Given the description of an element on the screen output the (x, y) to click on. 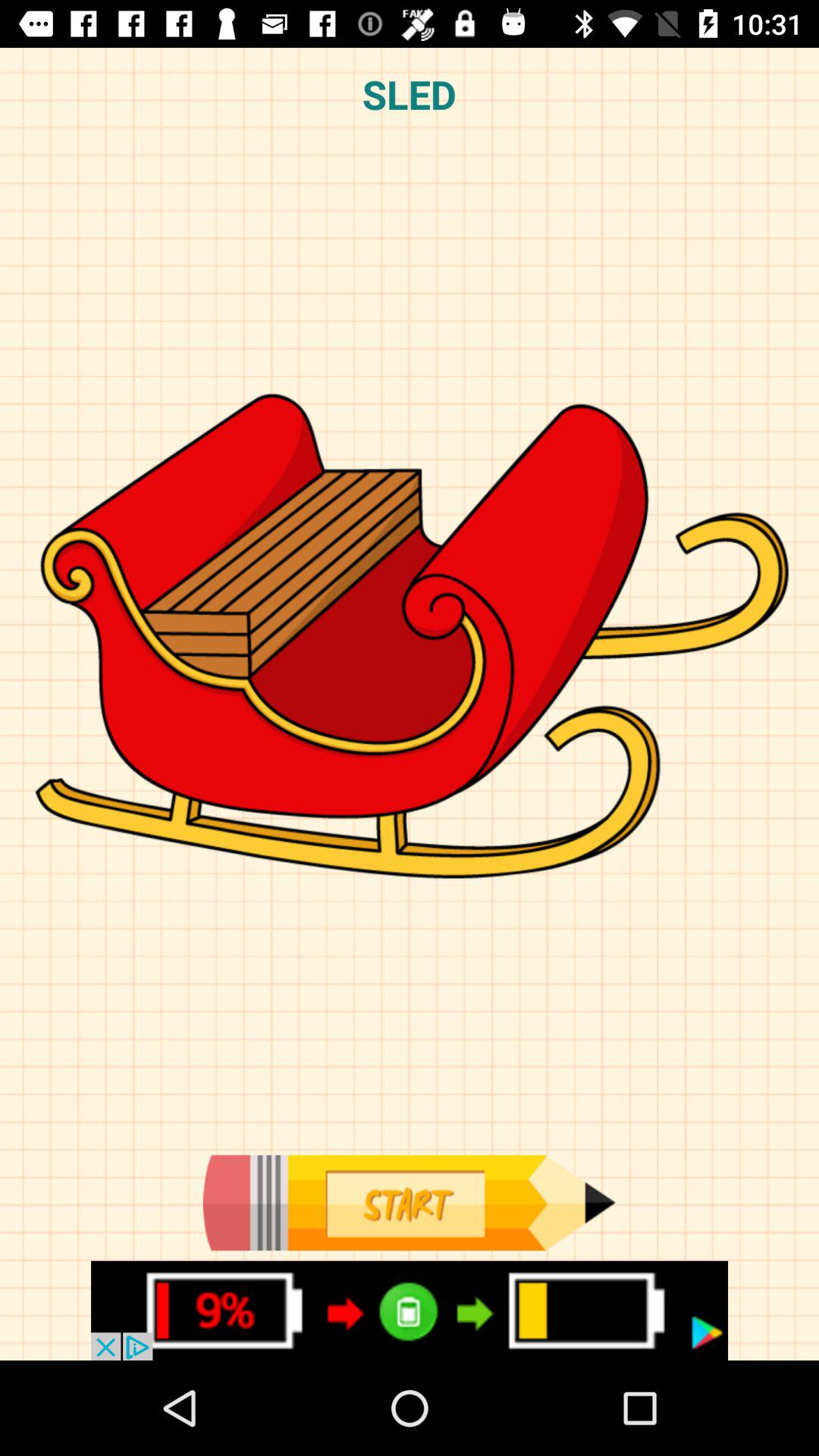
view details (409, 1310)
